Given the description of an element on the screen output the (x, y) to click on. 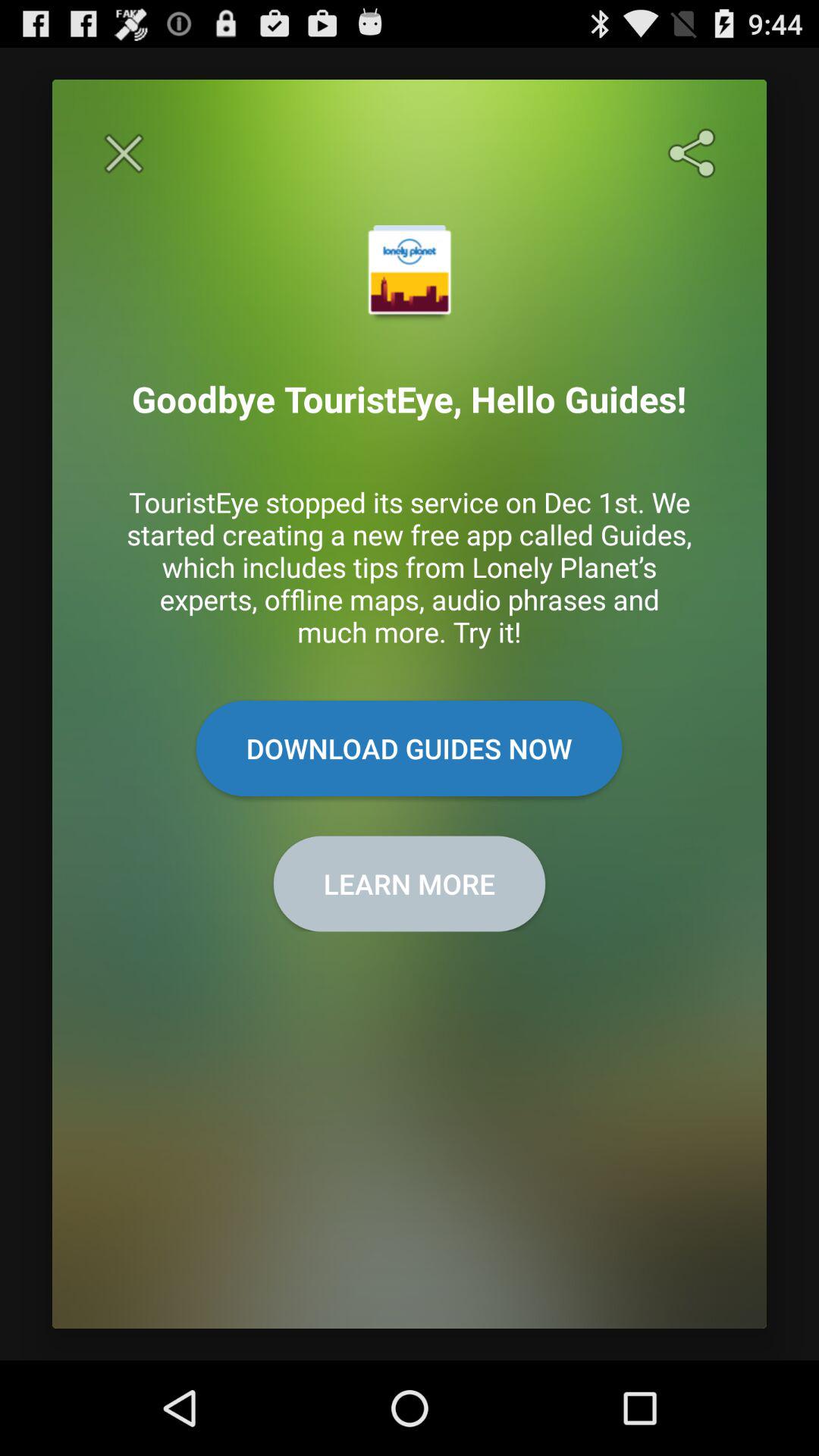
launch the icon above the goodbye touristeye hello item (123, 153)
